Given the description of an element on the screen output the (x, y) to click on. 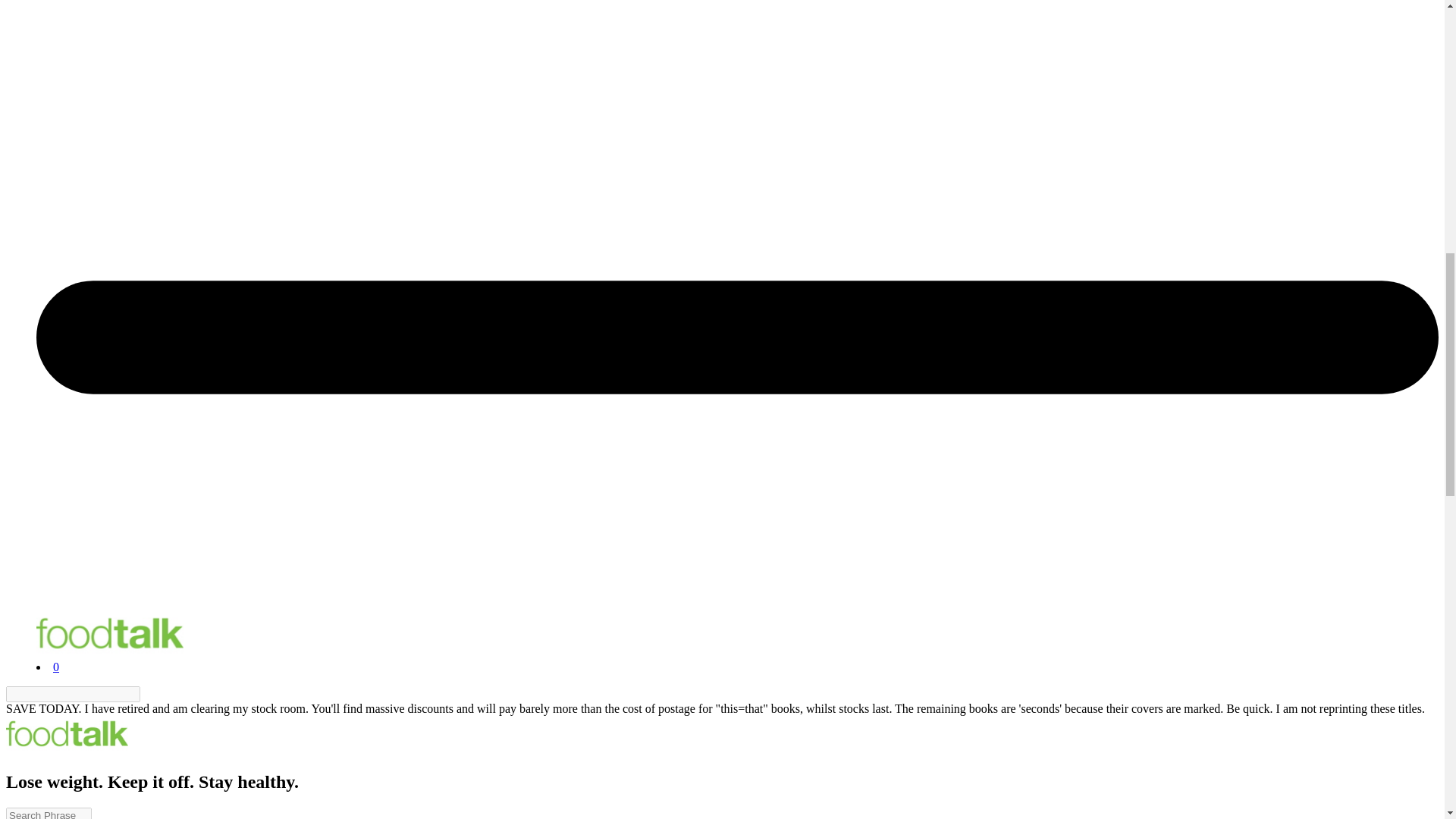
foodtalk logo image (109, 653)
foodtalk logo image (66, 748)
Find (148, 694)
foodtalk logo image (109, 634)
foodtalk logo image (66, 734)
